Given the description of an element on the screen output the (x, y) to click on. 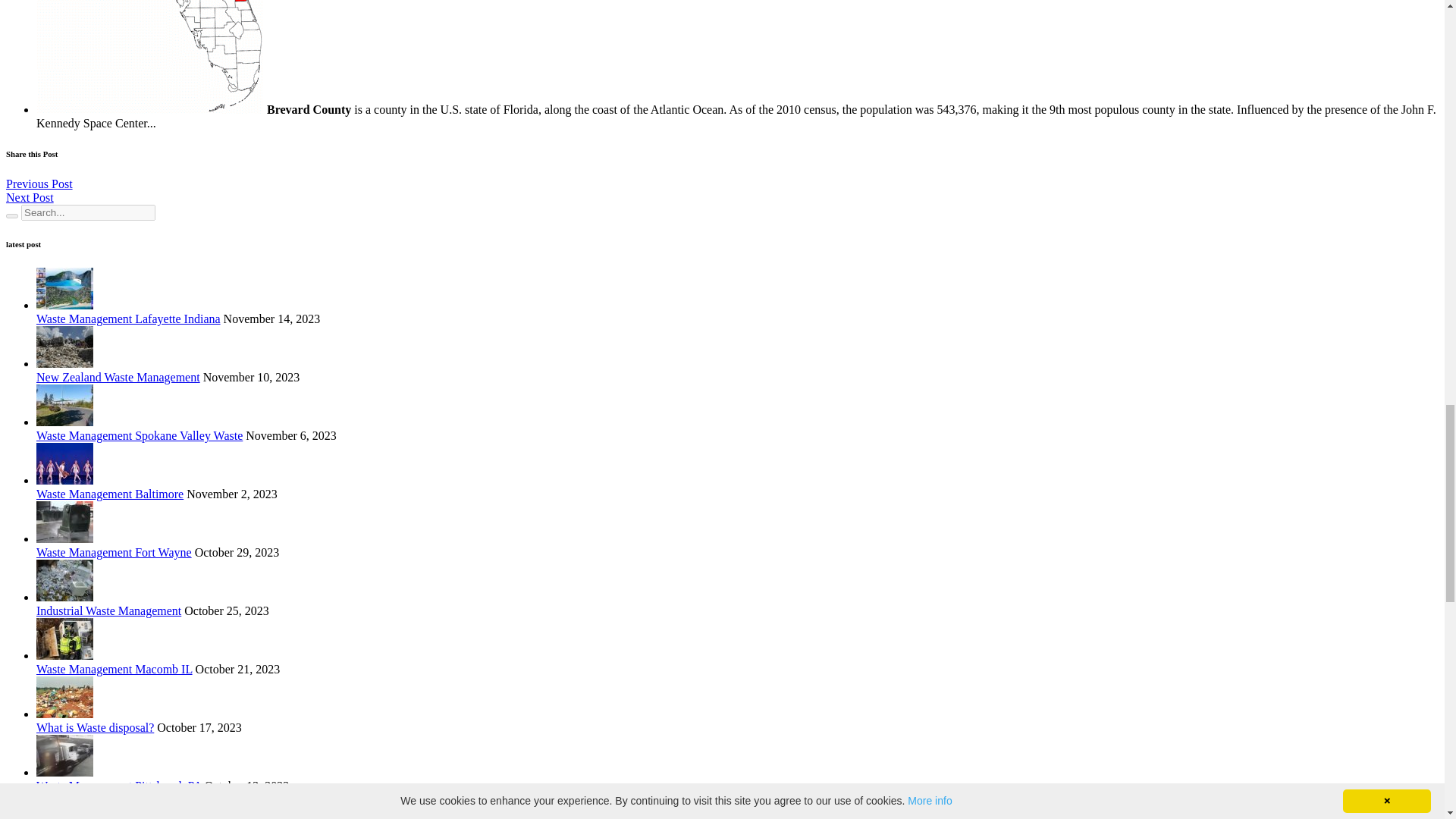
Search (11, 215)
Waste Management Macomb IL (114, 668)
What is Waste disposal? (95, 727)
Waste Management Baltimore (109, 493)
New Zealand Waste Management (118, 377)
Waste Management Pittsburgh PA (119, 785)
Waste Management Spokane Valley Waste (139, 435)
Waste Management Lafayette Indiana (128, 318)
Waste Management Fort Wayne (114, 552)
Industrial Waste Management (108, 610)
